Given the description of an element on the screen output the (x, y) to click on. 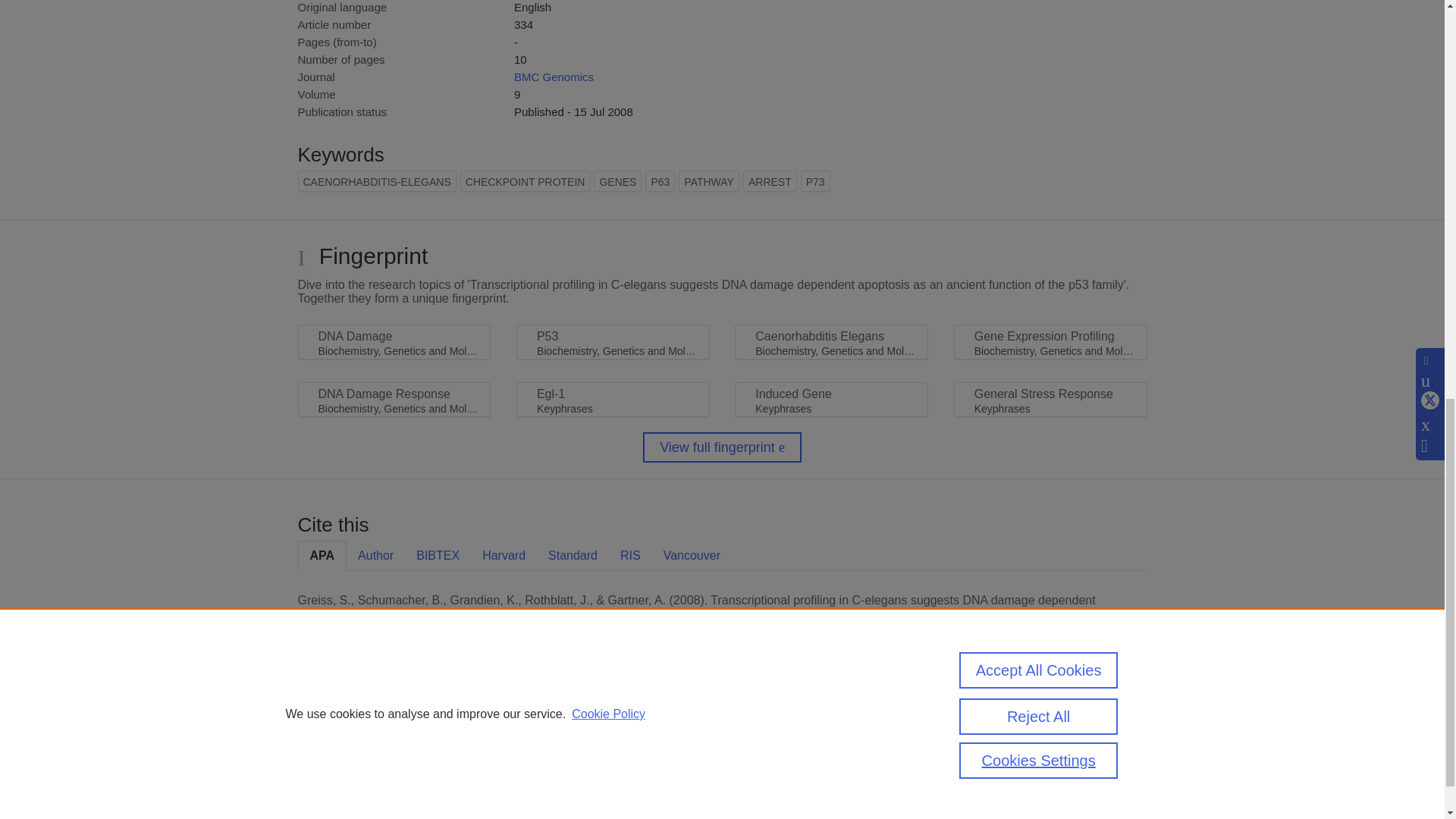
View full fingerprint (722, 447)
BMC Genomics (553, 76)
Pure (362, 719)
Scopus (394, 719)
